Given the description of an element on the screen output the (x, y) to click on. 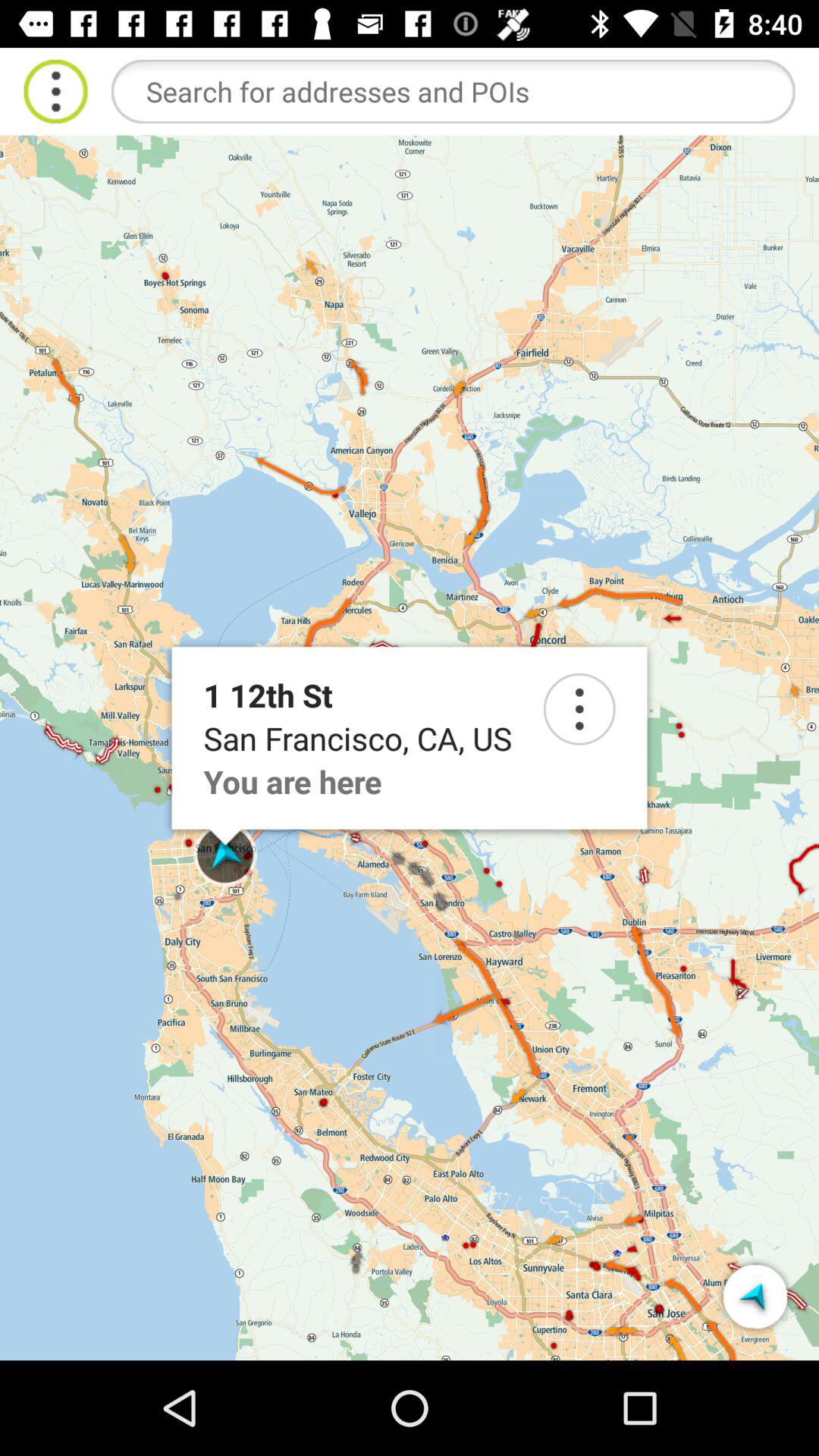
search for addresses and pois (453, 91)
